Given the description of an element on the screen output the (x, y) to click on. 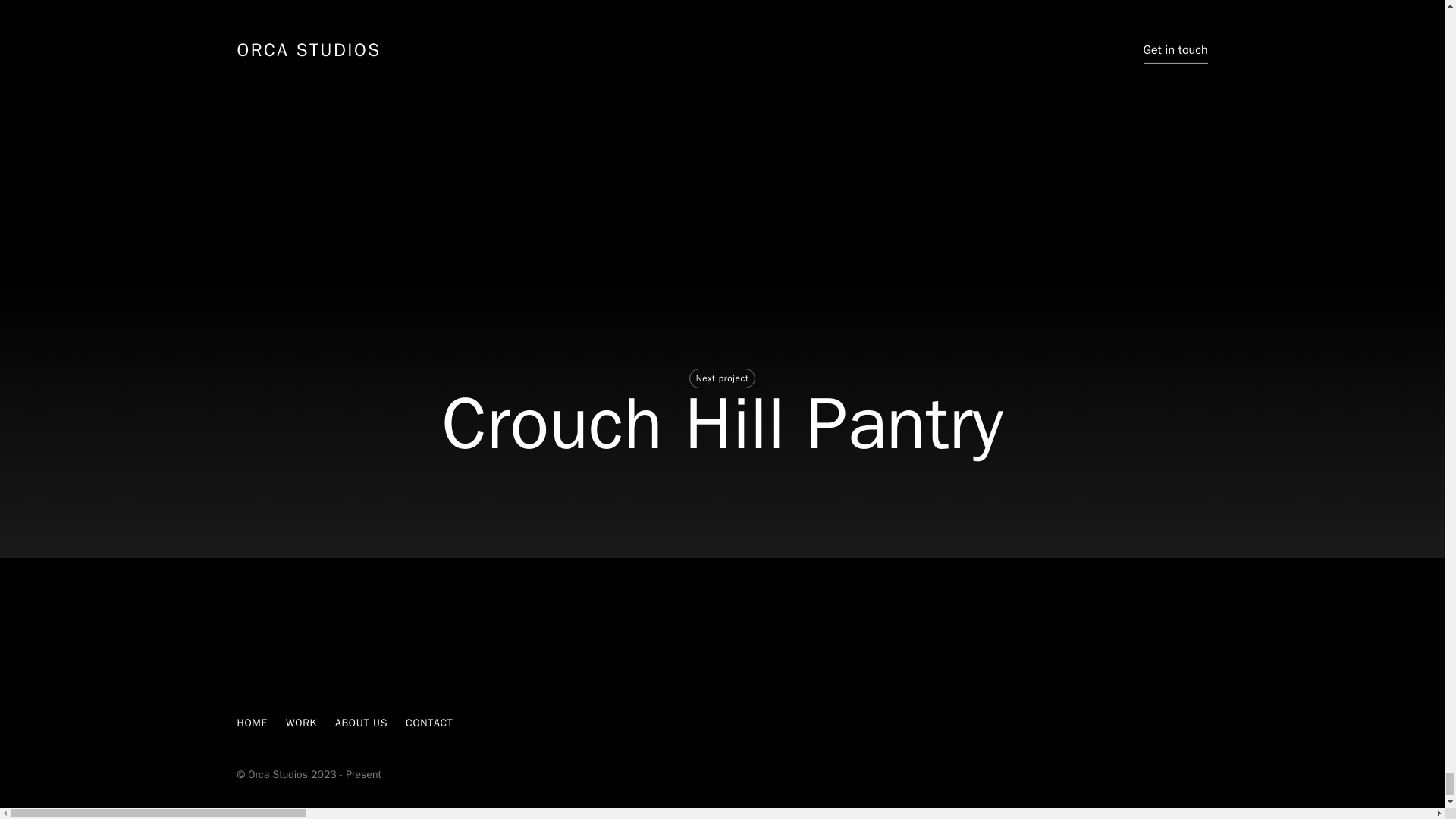
ABOUT US (360, 723)
WORK (301, 722)
HOME (251, 722)
